Given the description of an element on the screen output the (x, y) to click on. 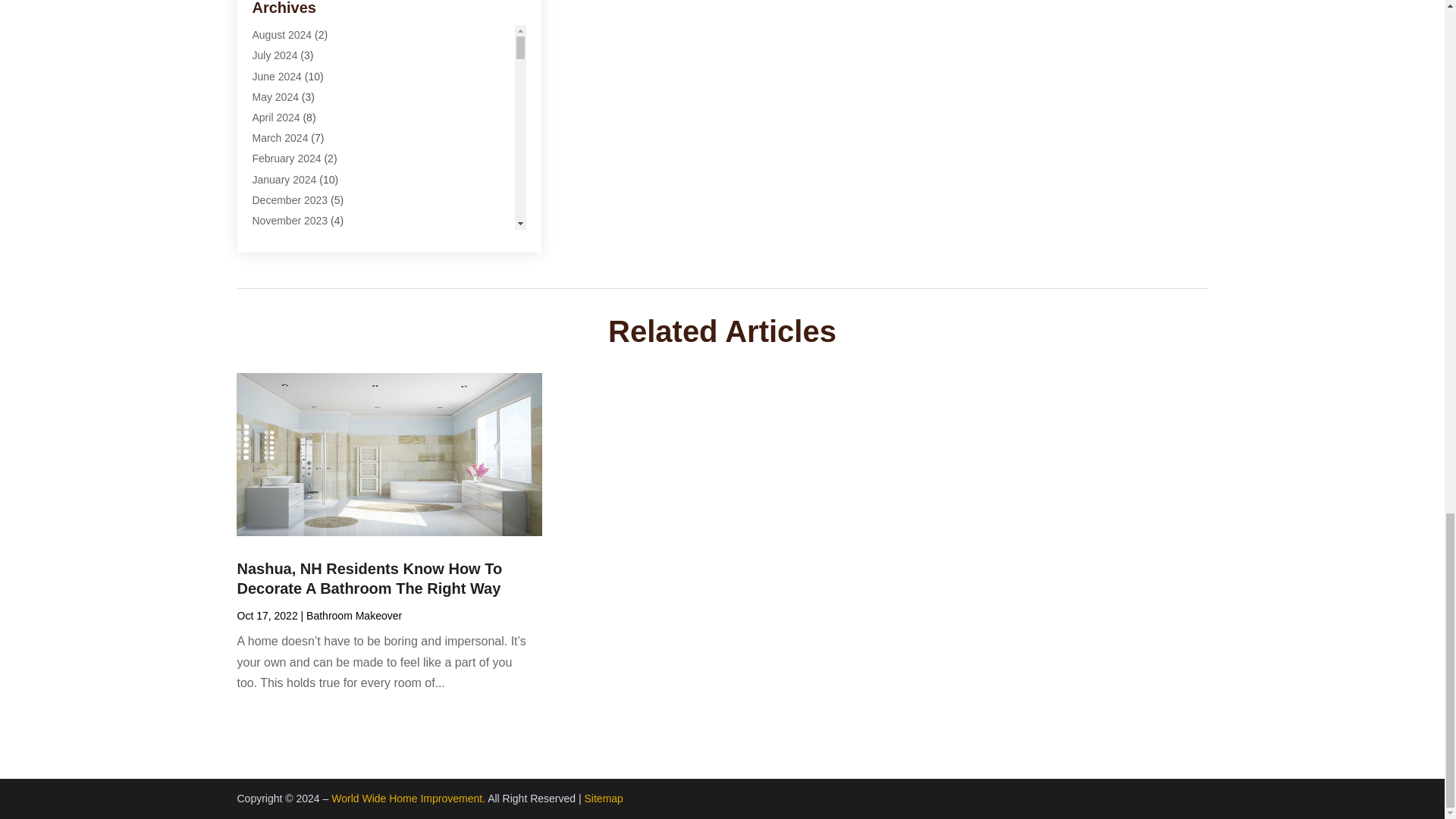
Cleaning (272, 38)
Chimney Sweep (290, 18)
Cleaning Tips And Tools (308, 101)
Construction And Maintenance (323, 121)
Custom Home Builder (303, 162)
Cleaning Service (291, 60)
Contractor (276, 141)
Cleaning Services (294, 80)
Carpet Installation (294, 2)
